Given the description of an element on the screen output the (x, y) to click on. 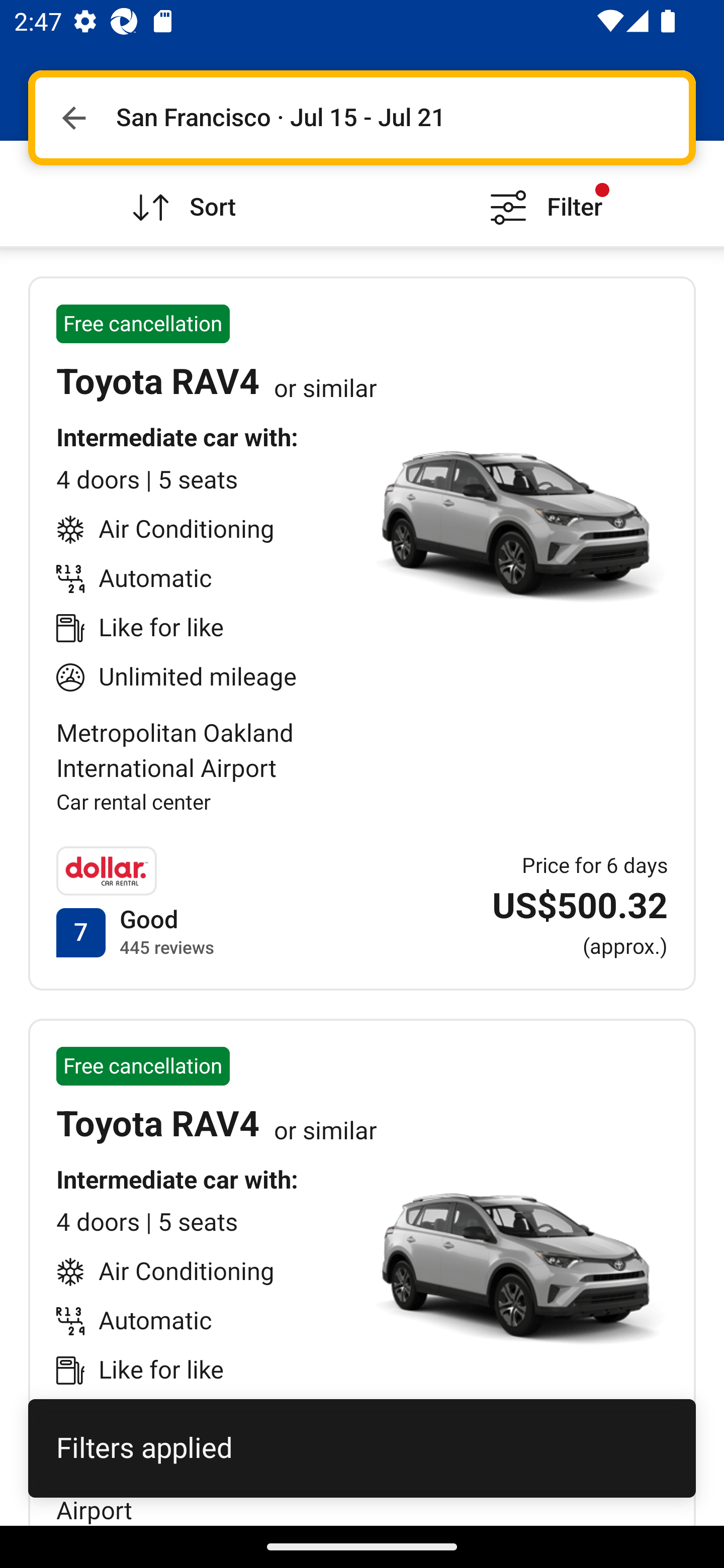
Back to previous screen (73, 117)
Sort (181, 193)
Filter (543, 193)
